Given the description of an element on the screen output the (x, y) to click on. 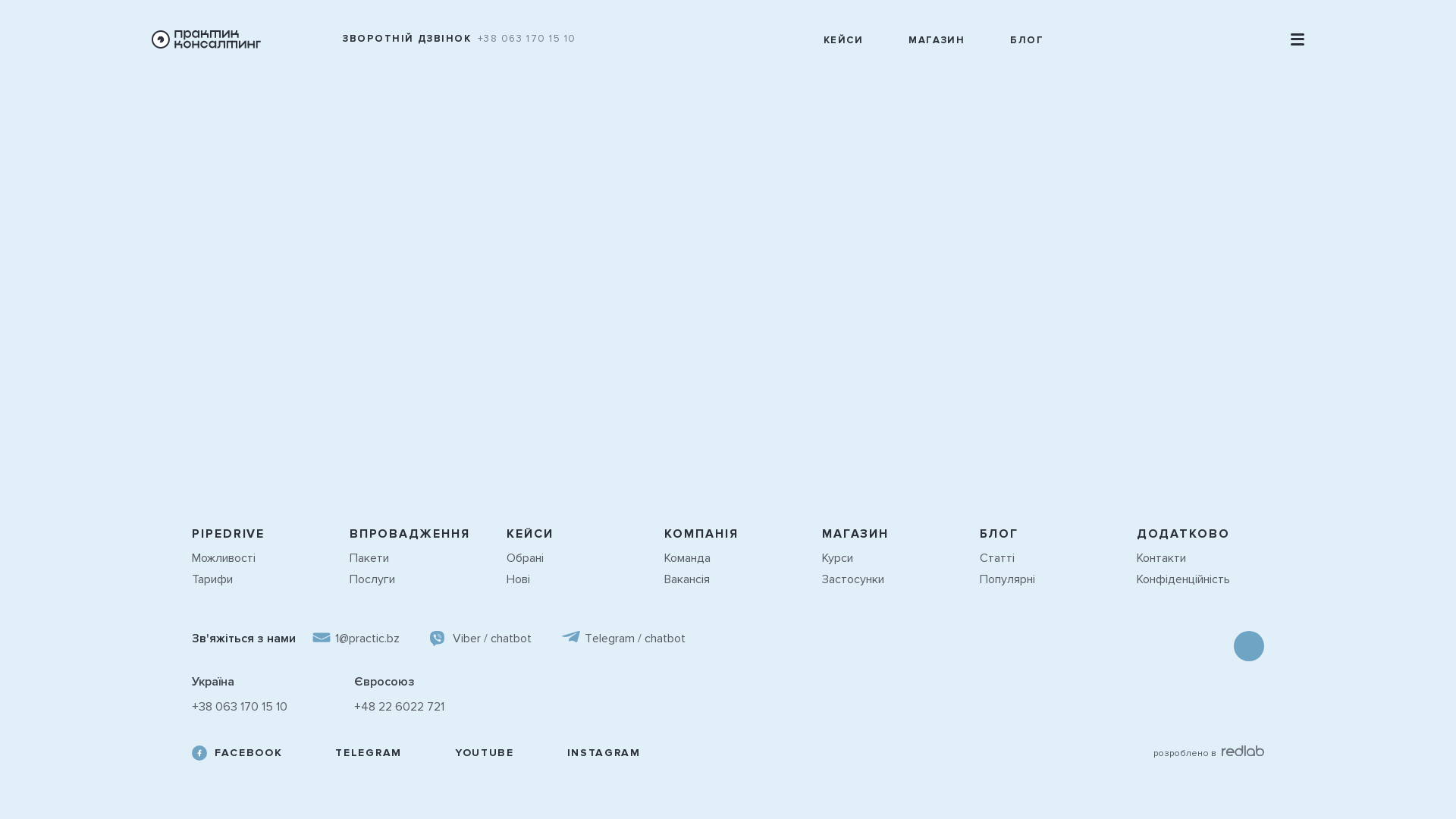
1@practic.bz Element type: text (355, 638)
INSTAGRAM Element type: text (592, 752)
+38 063 170 15 10 Element type: text (239, 707)
+48 22 6022 721 Element type: text (399, 707)
Viber / chatbot Element type: text (480, 638)
TELEGRAM Element type: text (356, 752)
+38 063 170 15 10 Element type: text (527, 38)
FACEBOOK Element type: text (236, 752)
PIPEDRIVE Element type: text (227, 533)
YOUTUBE Element type: text (473, 752)
